Given the description of an element on the screen output the (x, y) to click on. 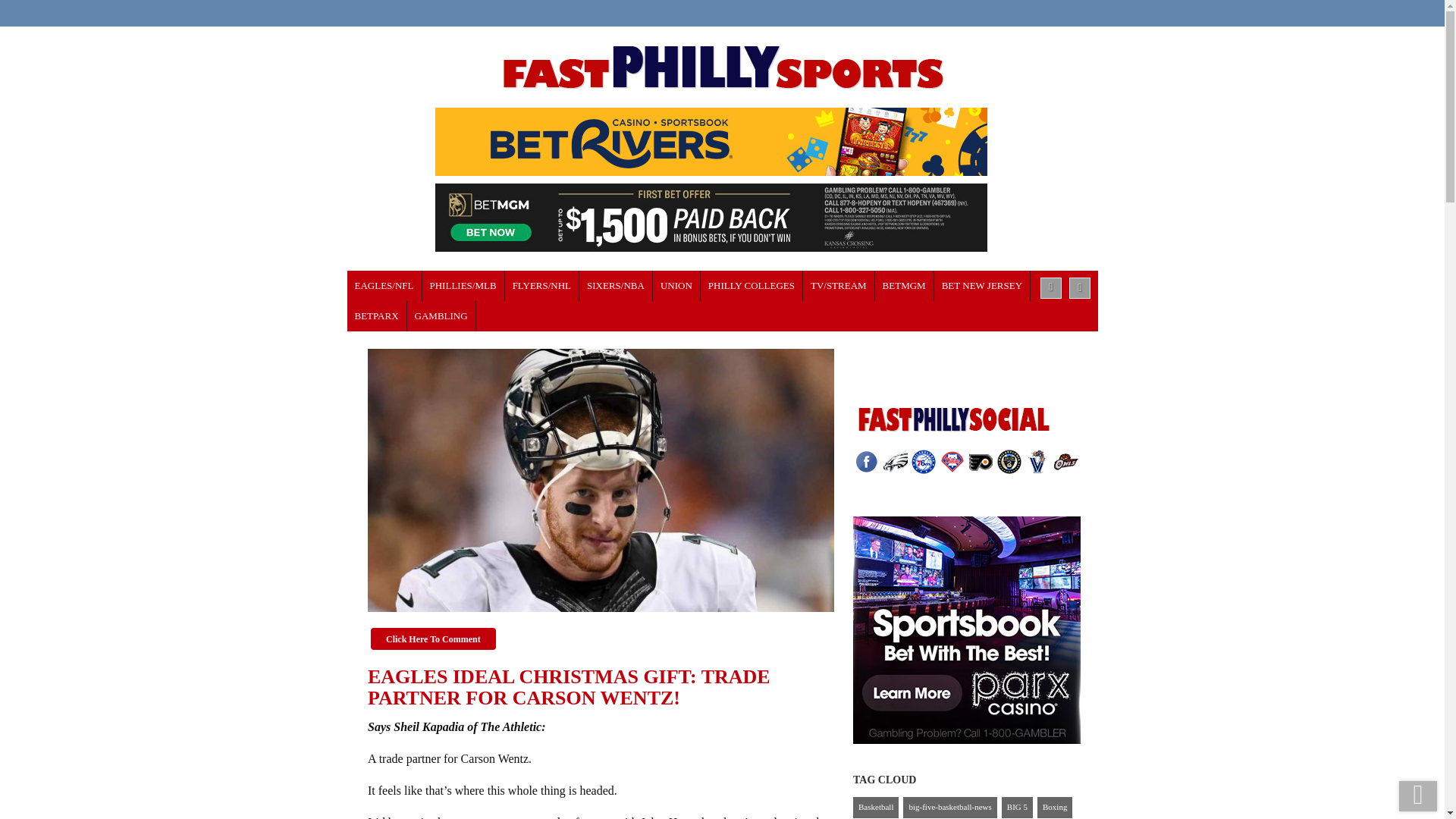
PHILLY COLLEGES (751, 286)
EAGLES IDEAL CHRISTMAS GIFT: TRADE PARTNER FOR CARSON WENTZ! (601, 480)
GAMBLING (441, 316)
BET NEW JERSEY (982, 286)
Click Here To Comment (433, 639)
LA SALLE (751, 286)
UNION (676, 286)
BETMGM (904, 286)
BETPARX (377, 316)
Random Article (1079, 287)
